Given the description of an element on the screen output the (x, y) to click on. 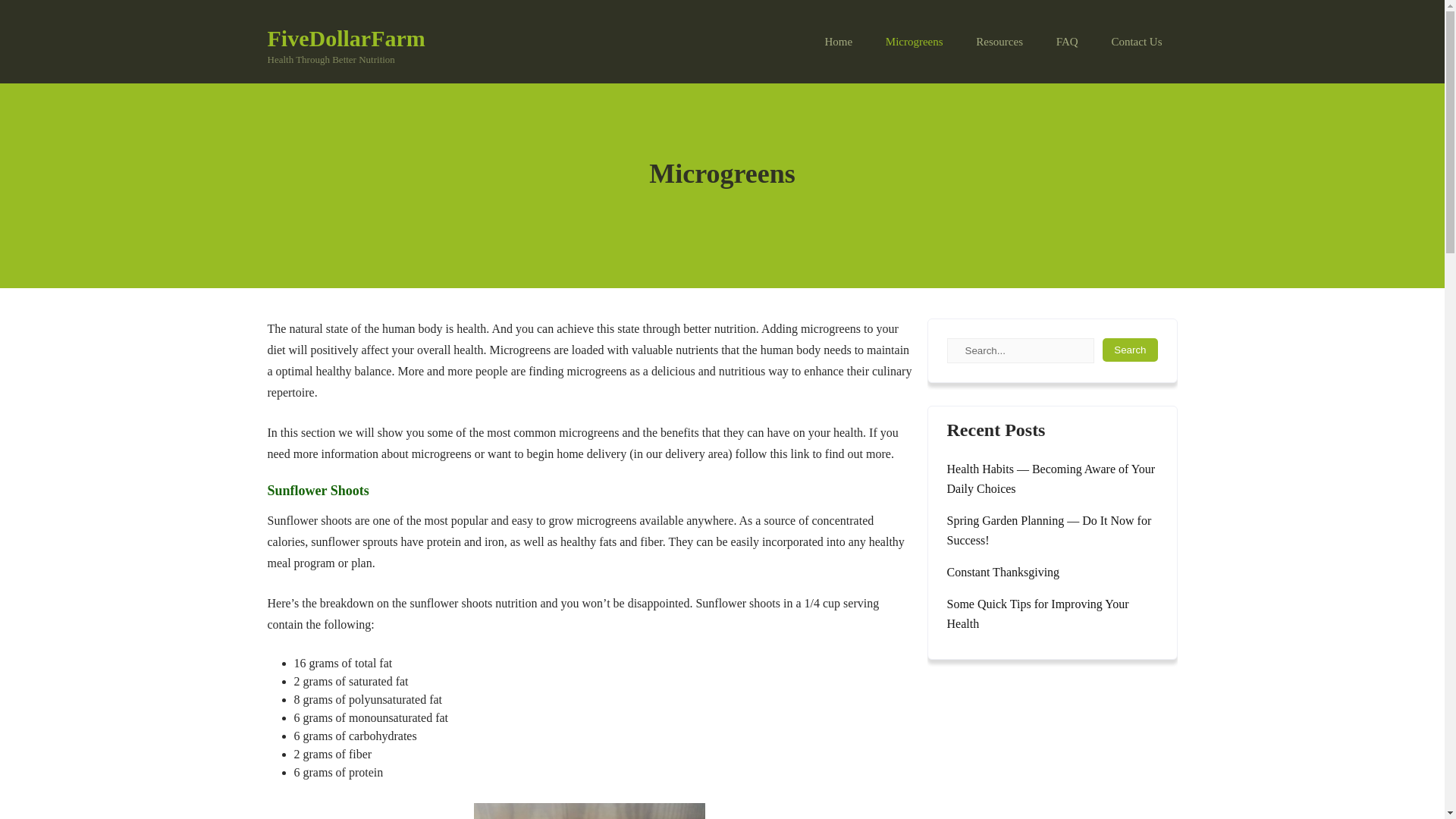
Search (1129, 349)
Some Quick Tips for Improving Your Health (1051, 613)
Search (1129, 349)
Search (1129, 349)
Contact Us (345, 38)
Resources (1136, 41)
Microgreens (999, 41)
Constant Thanksgiving (914, 41)
